Given the description of an element on the screen output the (x, y) to click on. 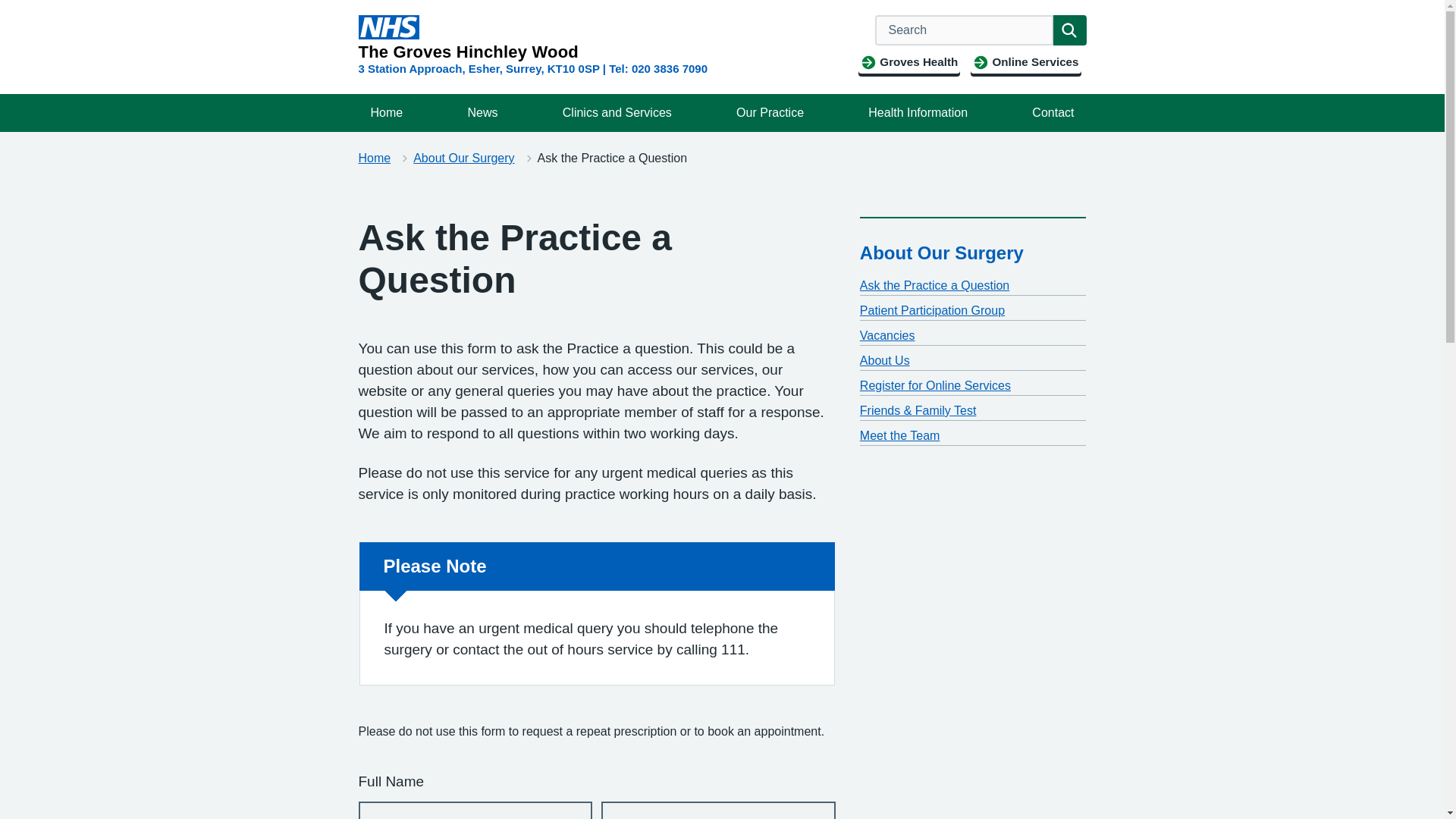
News (481, 112)
Home (374, 157)
NHS Logo (388, 27)
Clinics and Services (617, 112)
Groves Health (909, 61)
Meet the Team (900, 435)
Vacancies (887, 335)
Ask the Practice a Question (934, 285)
About Our Surgery (463, 157)
Health Information (917, 112)
Patient Participation Group (932, 309)
Our Practice (769, 112)
Online Services (1025, 61)
Register for Online Services (935, 385)
Search (1069, 30)
